Given the description of an element on the screen output the (x, y) to click on. 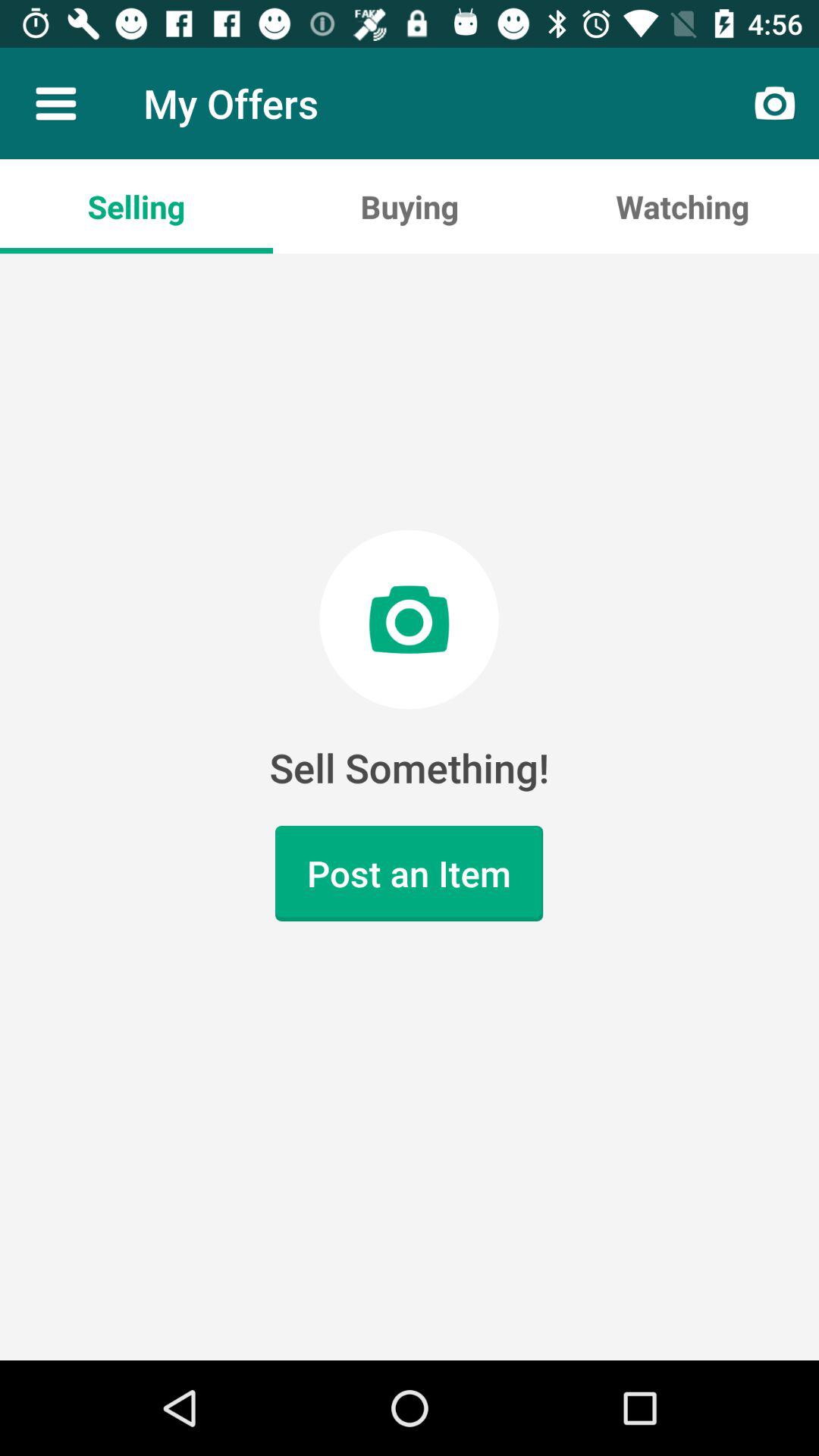
tap the icon above sell something! icon (136, 206)
